Given the description of an element on the screen output the (x, y) to click on. 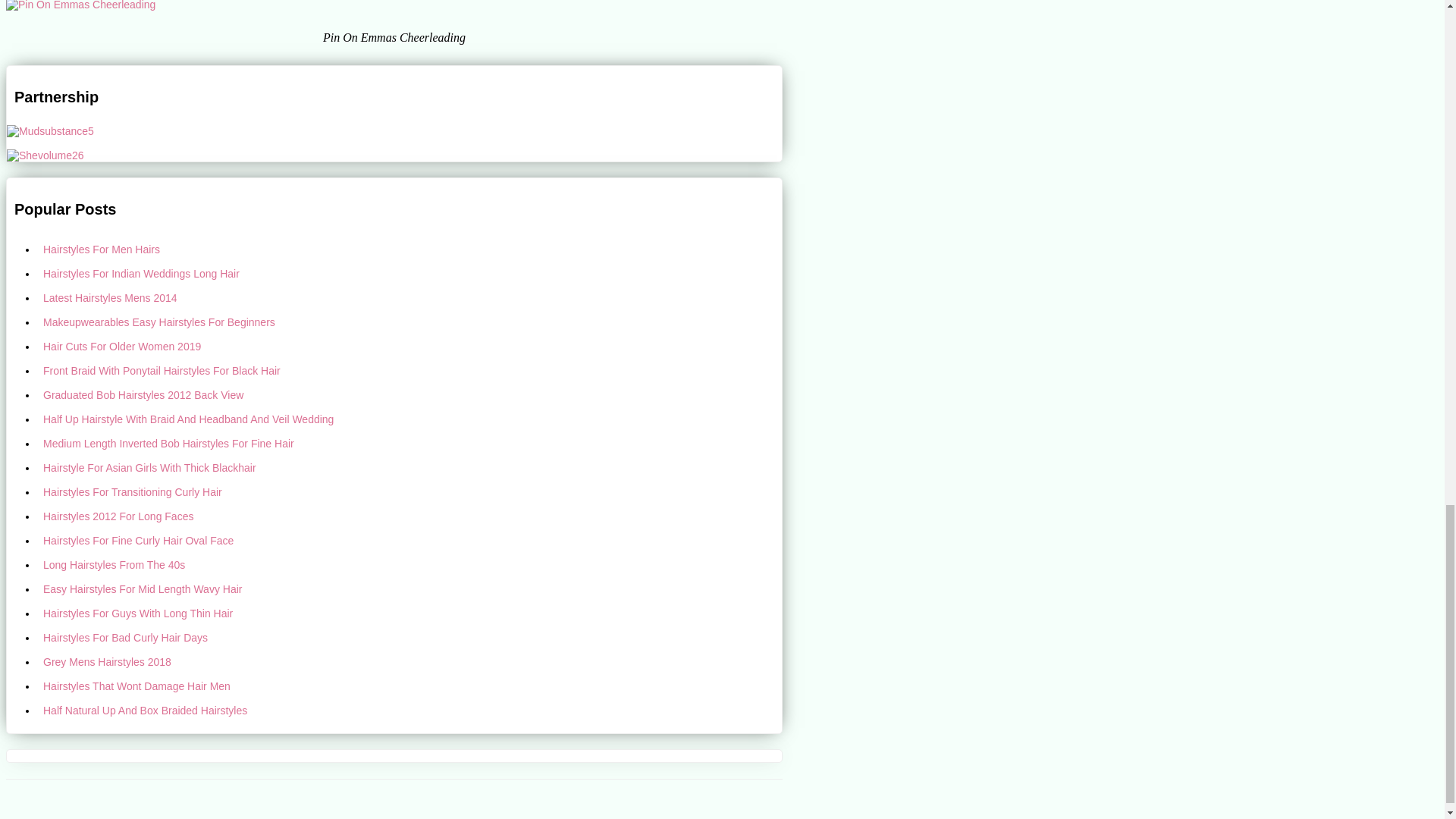
Makeupwearables Easy Hairstyles For Beginners (409, 322)
Hairstyles For Transitioning Curly Hair (409, 491)
Hairstyle For Asian Girls With Thick Blackhair (409, 467)
Long Hairstyles From The 40s (409, 564)
Mudsubstance5 (50, 131)
Half Up Hairstyle With Braid And Headband And Veil Wedding (409, 419)
Hairstyles For Fine Curly Hair Oval Face (409, 540)
Graduated Bob Hairstyles 2012 Back View (409, 395)
Front Braid With Ponytail Hairstyles For Black Hair (409, 370)
Hair Cuts For Older Women 2019 (409, 346)
Latest Hairstyles Mens 2014 (409, 297)
Hairstyles For Indian Weddings Long Hair (409, 273)
Hairstyles For Men Hairs (409, 249)
Medium Length Inverted Bob Hairstyles For Fine Hair (409, 443)
Hairstyles 2012 For Long Faces (409, 516)
